Given the description of an element on the screen output the (x, y) to click on. 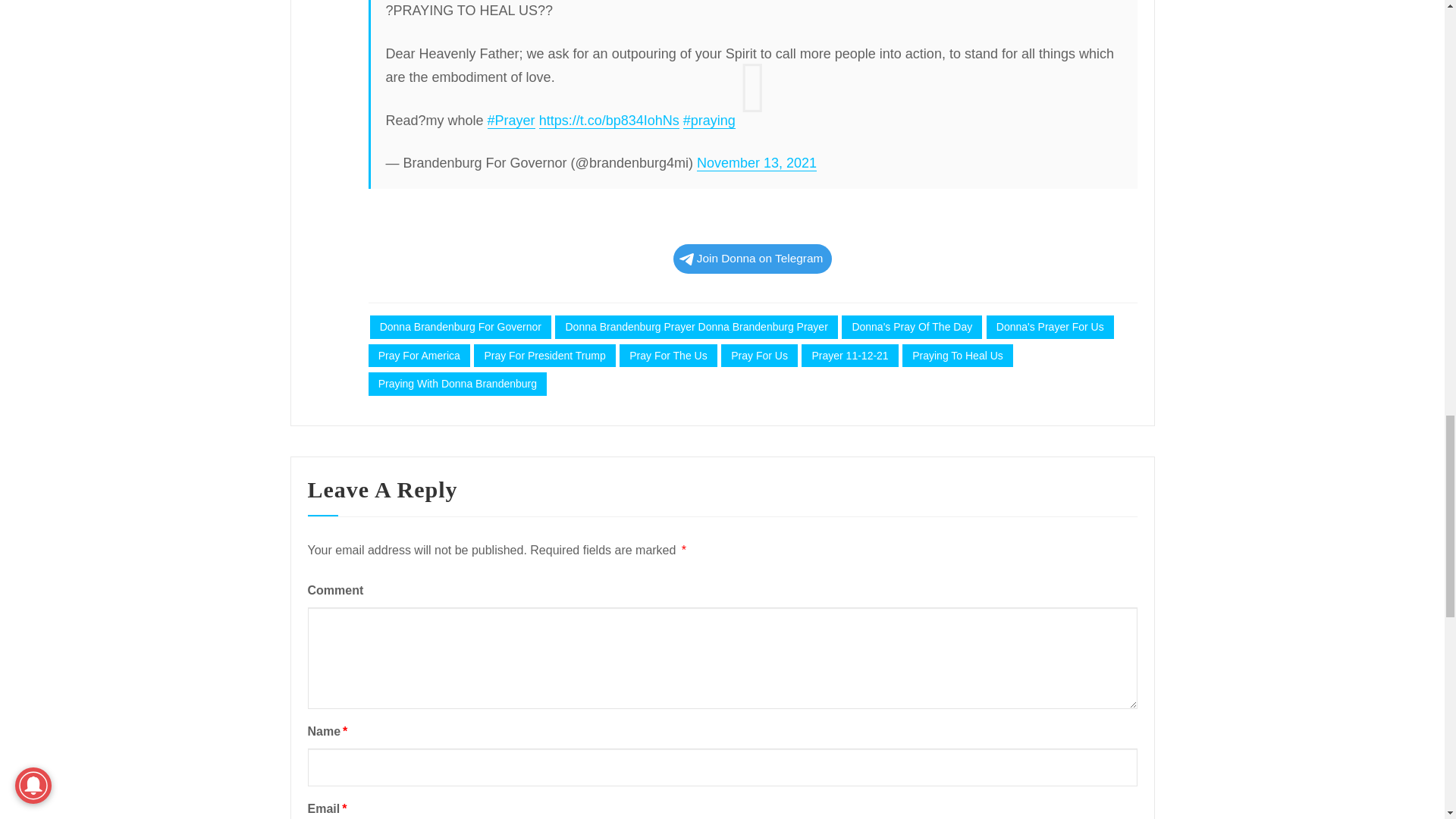
Pray For Us (758, 355)
Pray For The Us (668, 355)
Join Donna on Telegram (752, 258)
Praying To Heal Us (957, 355)
Donna Brandenburg Prayer Donna Brandenburg Prayer (696, 327)
Donna'S Pray Of The Day (911, 327)
Praying With Donna Brandenburg (457, 383)
Pray For President Trump (544, 355)
Donna Brandenburg For Governor (460, 327)
Pray For America (419, 355)
